Given the description of an element on the screen output the (x, y) to click on. 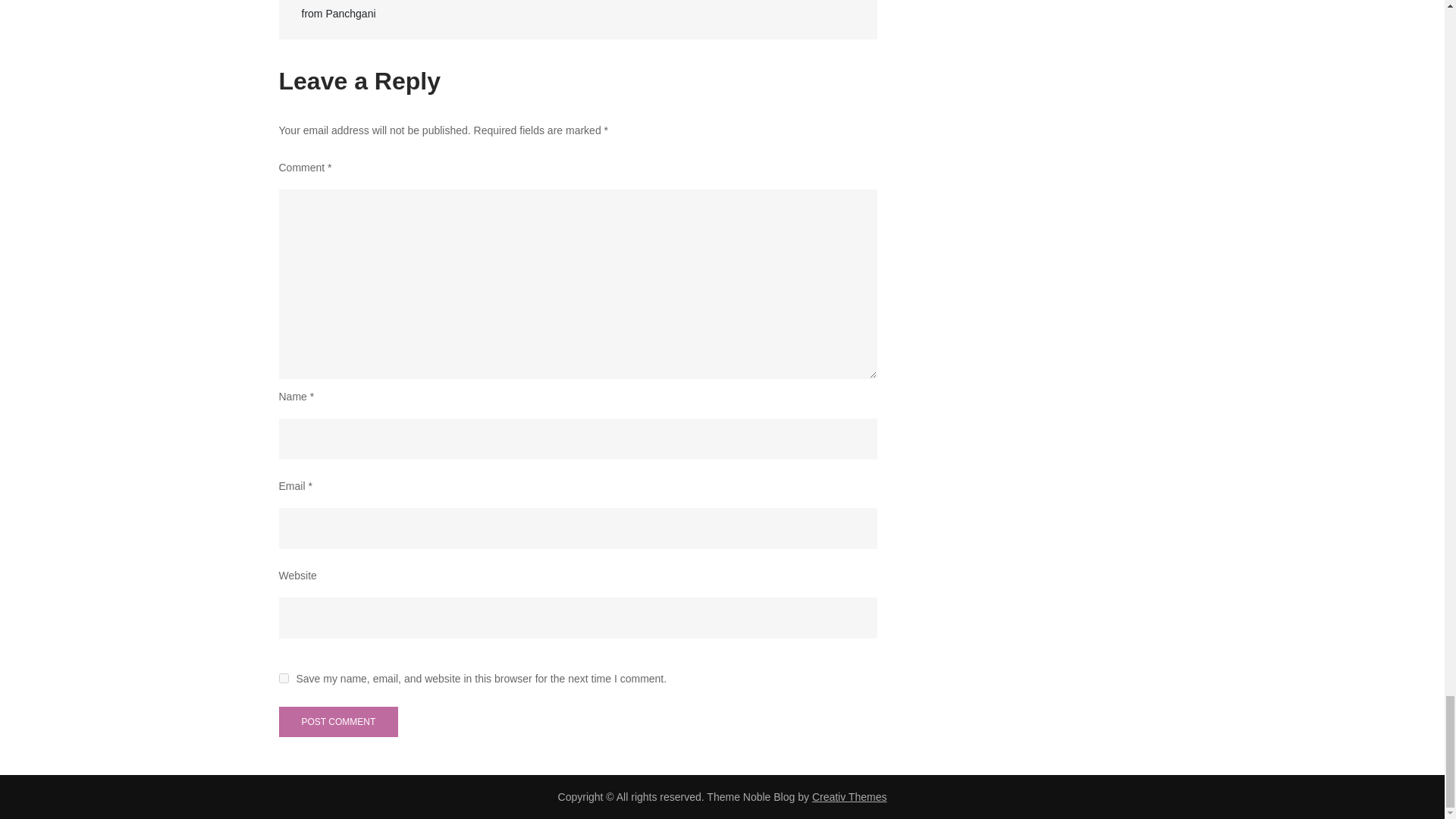
Post Comment (338, 721)
yes (283, 678)
Post Comment (338, 721)
